Given the description of an element on the screen output the (x, y) to click on. 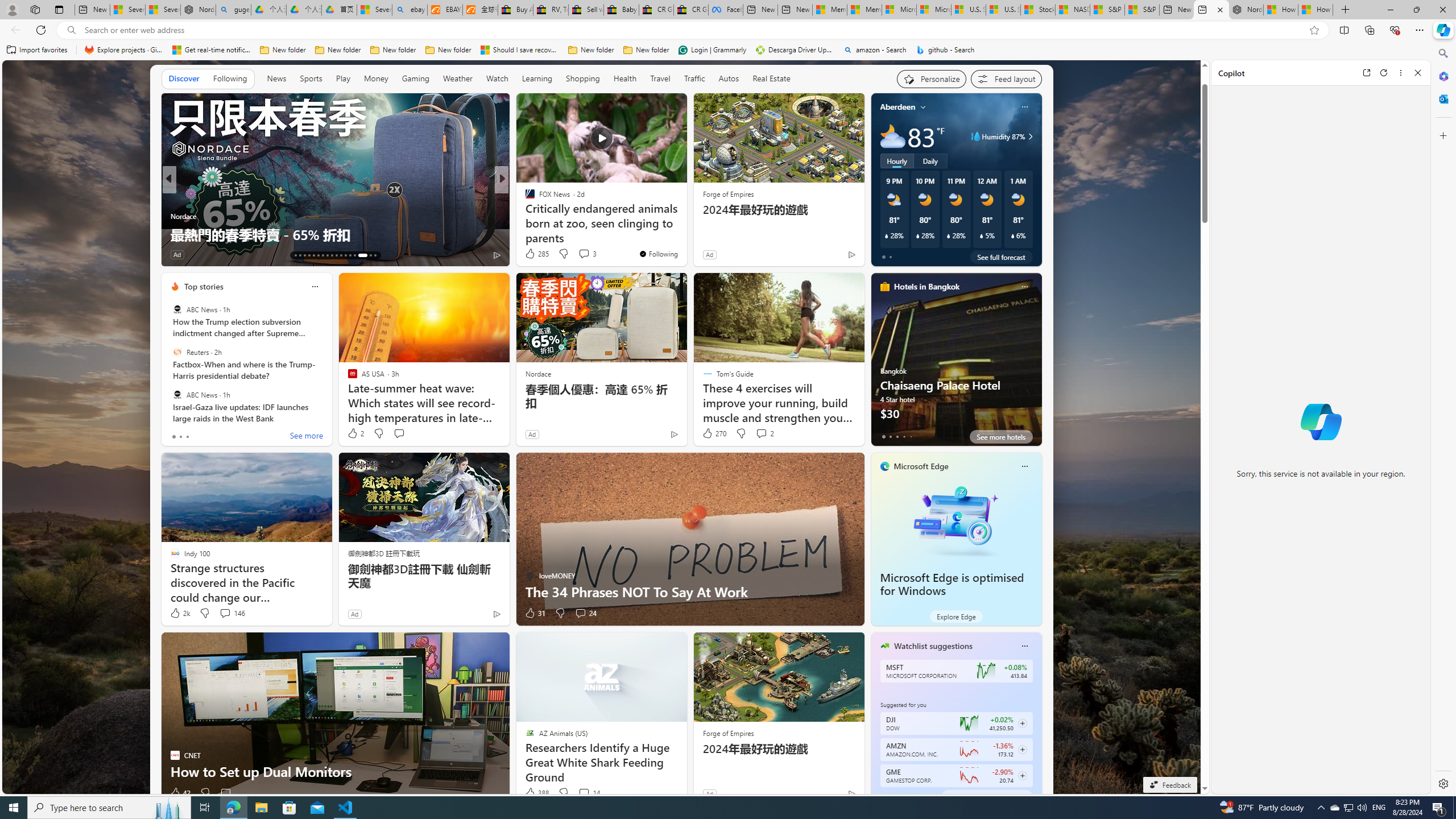
Gaming (415, 79)
Explore Edge (955, 616)
Nordace (538, 373)
Start the conversation (225, 792)
AutomationID: tab-39 (354, 255)
Facebook (725, 9)
Watchlist suggestions (932, 646)
Feedback (1169, 784)
Don't trust AI for these 4 things (684, 234)
Open link in new tab (1366, 72)
AutomationID: tab-40 (358, 255)
Top stories (203, 286)
